Given the description of an element on the screen output the (x, y) to click on. 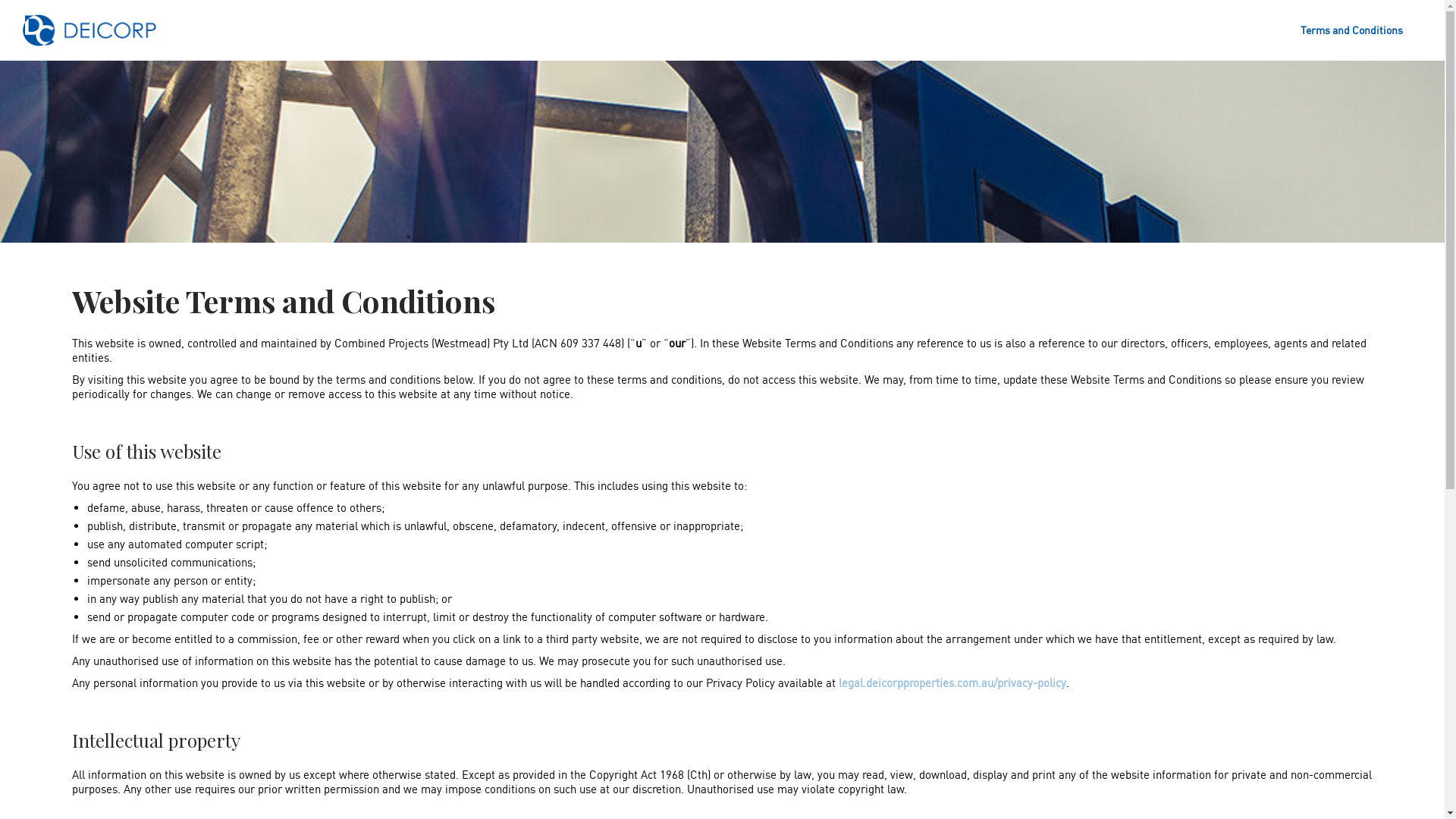
legal.deicorpproperties.com.au/privacy-policy Element type: text (952, 682)
Terms and Conditions Element type: text (1351, 29)
